Given the description of an element on the screen output the (x, y) to click on. 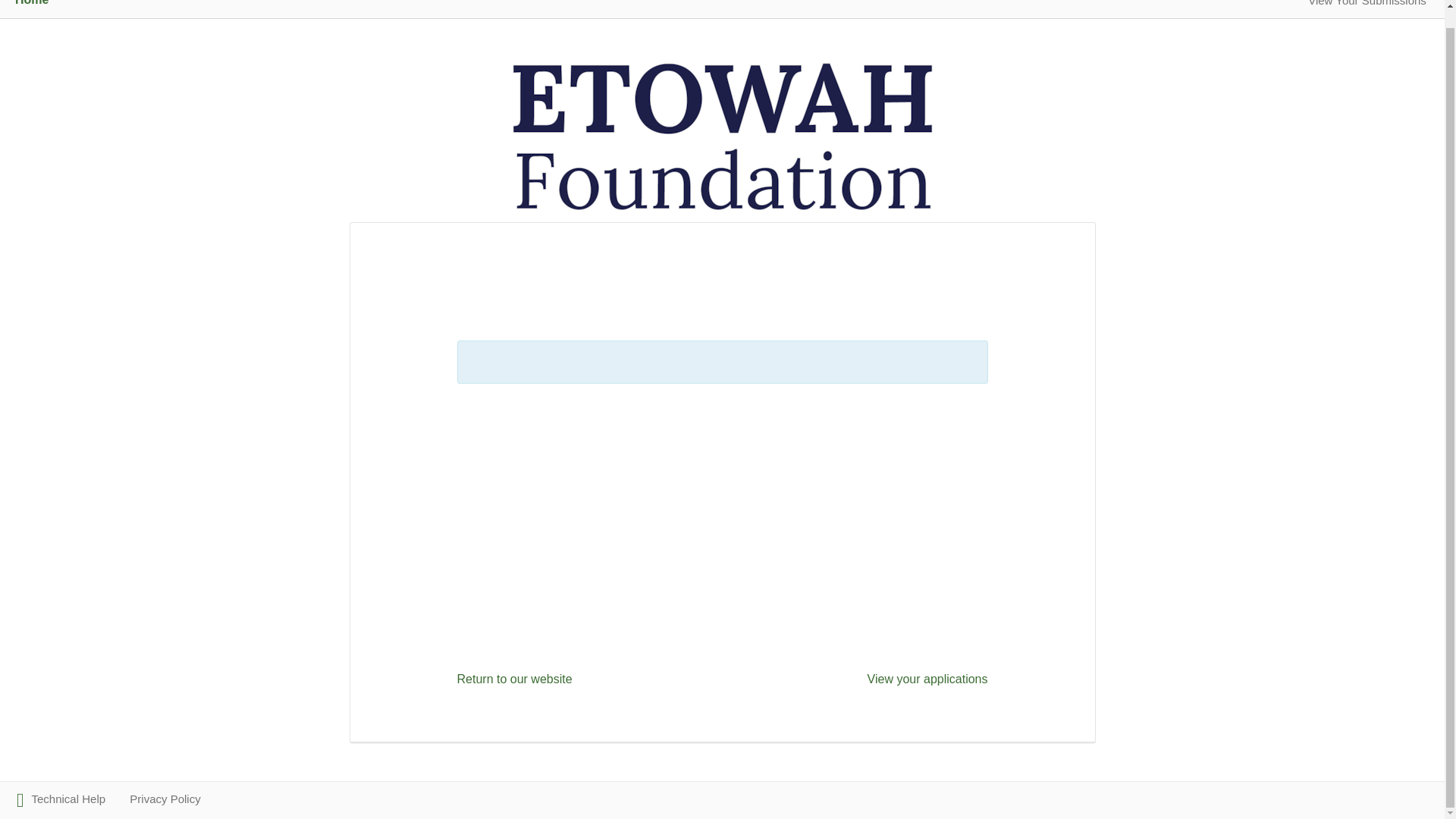
Privacy Policy (164, 798)
Home (31, 2)
View Your Submissions (1366, 3)
View your applications (927, 678)
Return to our website (514, 678)
Technical Help (60, 798)
